Given the description of an element on the screen output the (x, y) to click on. 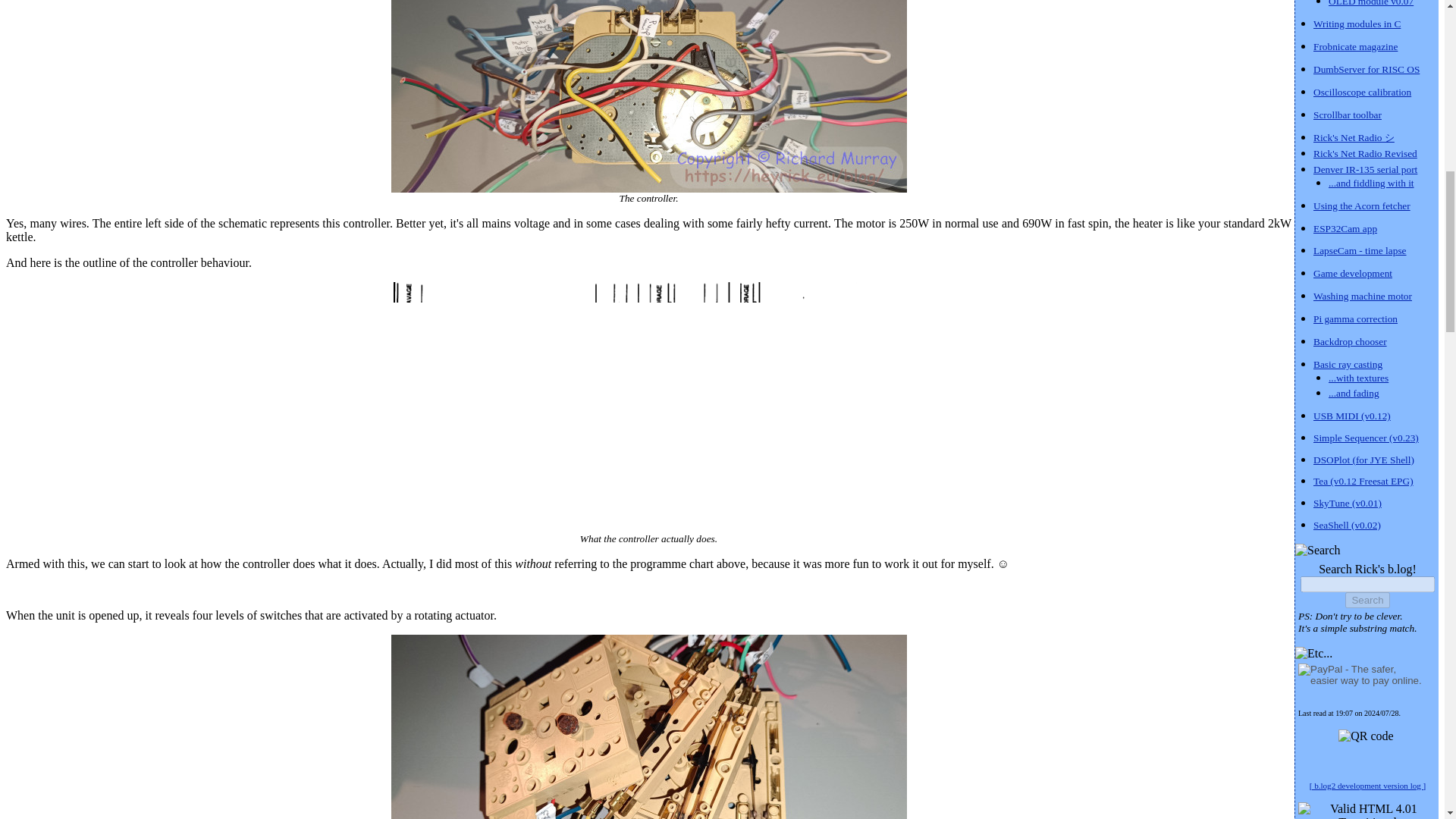
Search (1367, 600)
Writing modules in C (1356, 22)
Etc... (1313, 653)
OLED module v0.07 (1370, 3)
Search (1317, 550)
Frobnicate magazine (1355, 45)
